Given the description of an element on the screen output the (x, y) to click on. 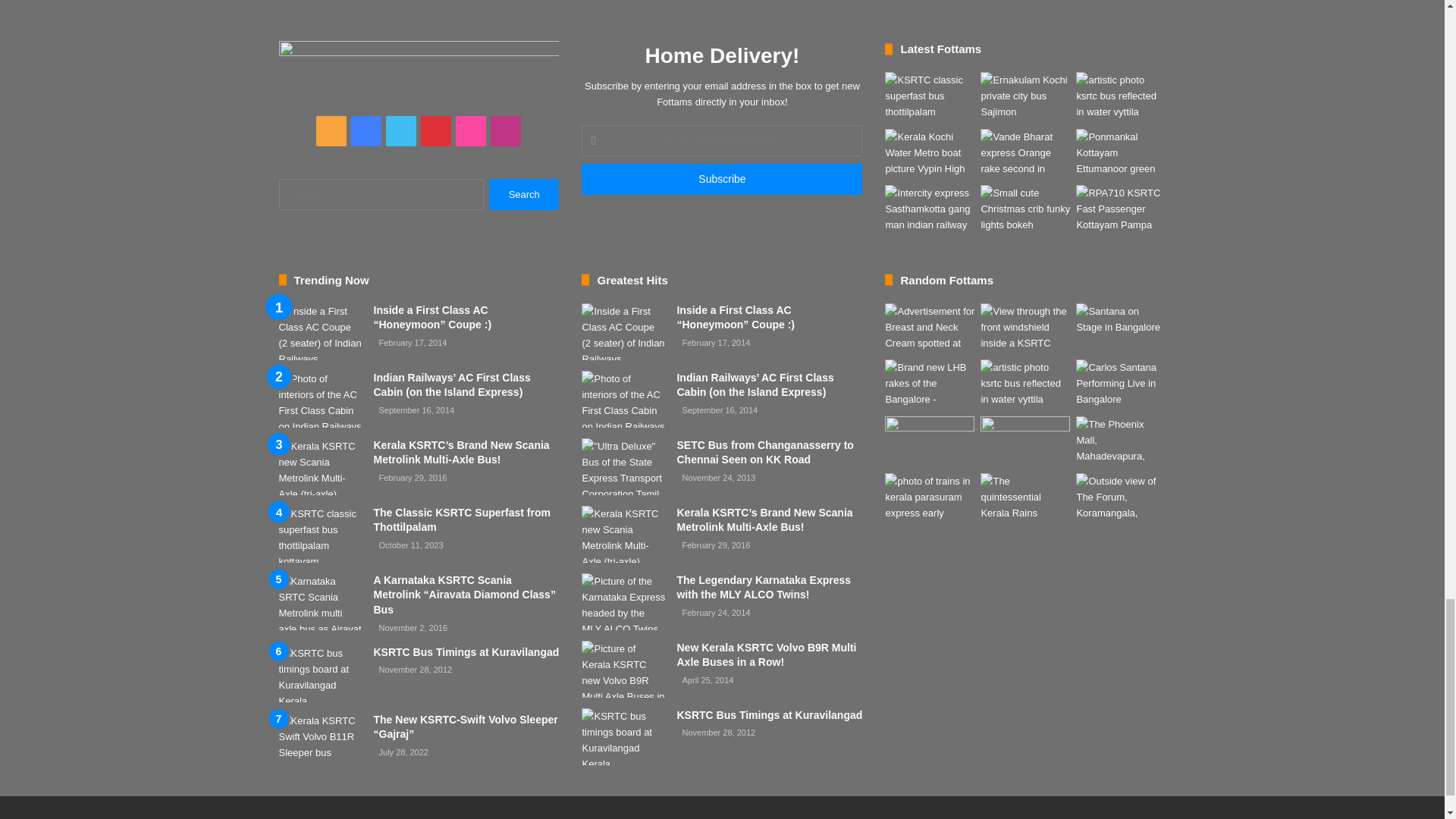
Search (524, 194)
Subscribe (720, 178)
Search (524, 194)
